Given the description of an element on the screen output the (x, y) to click on. 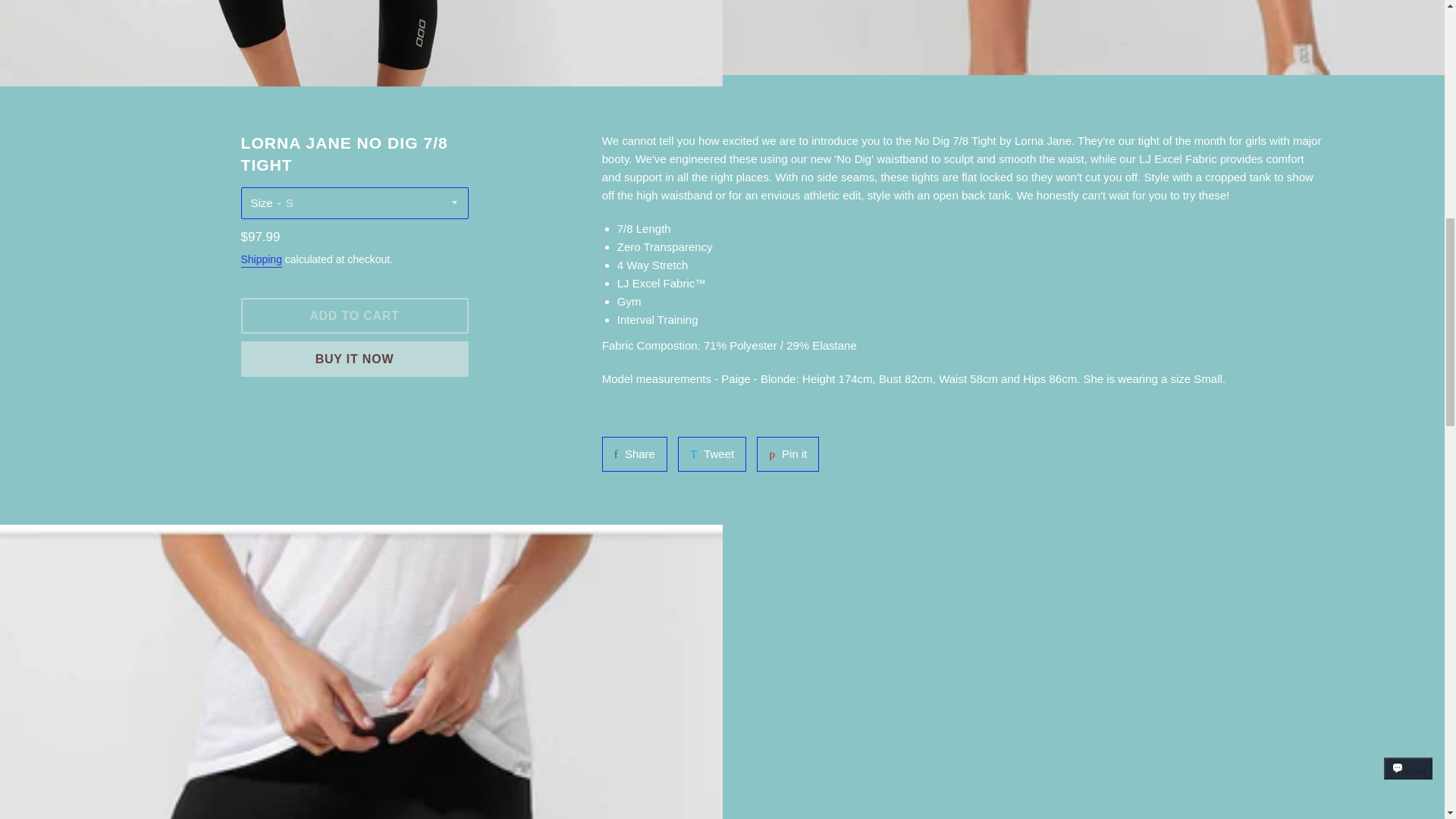
Tweet on Twitter (711, 453)
Share on Facebook (634, 453)
Pin on Pinterest (787, 453)
